Given the description of an element on the screen output the (x, y) to click on. 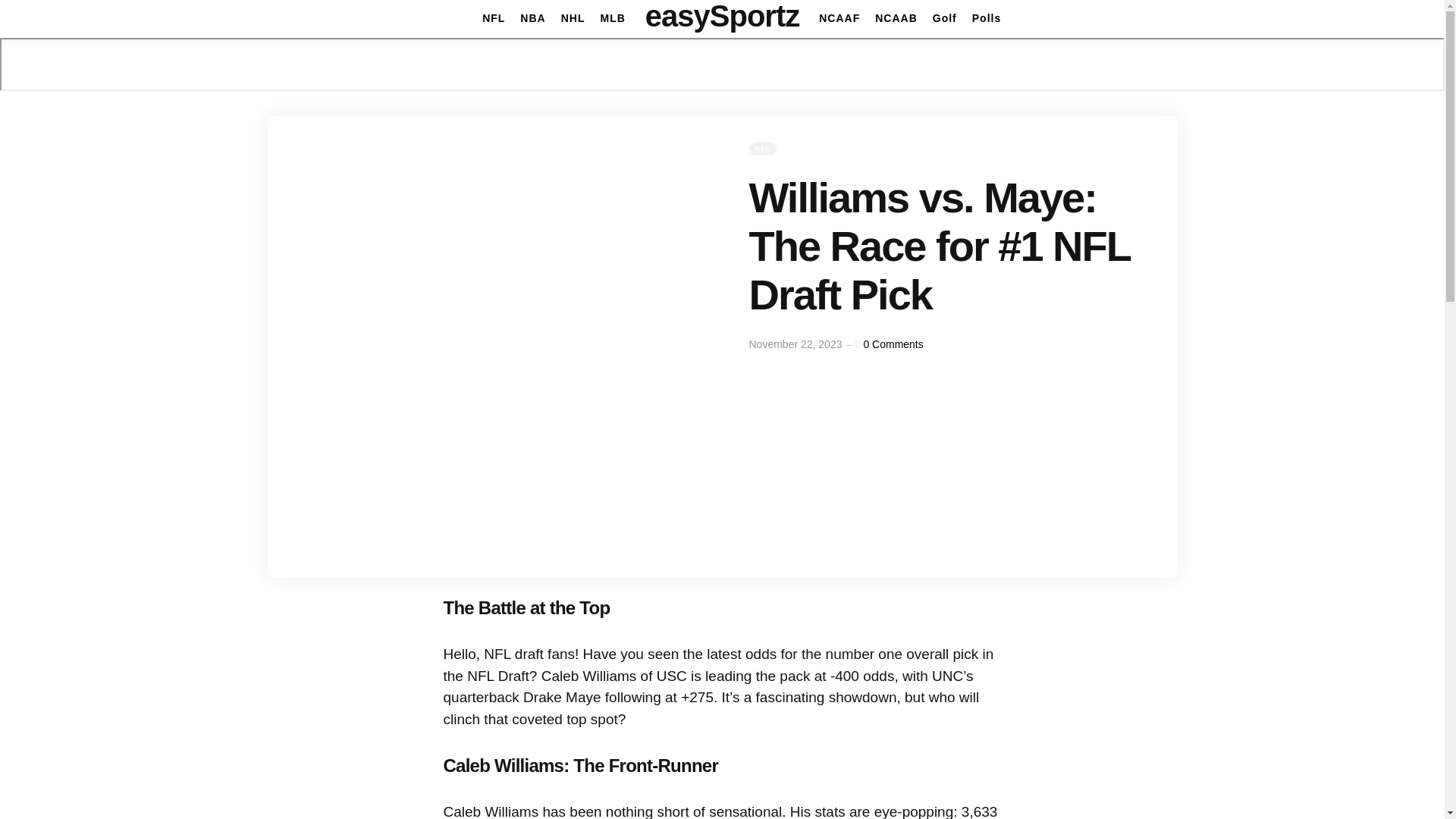
Polls (986, 18)
Golf (944, 18)
NFL (763, 148)
NHL (572, 18)
NCAAF (839, 18)
NBA (531, 18)
NFL (493, 18)
easySportz (722, 15)
NCAAB (896, 18)
MLB (611, 18)
